Given the description of an element on the screen output the (x, y) to click on. 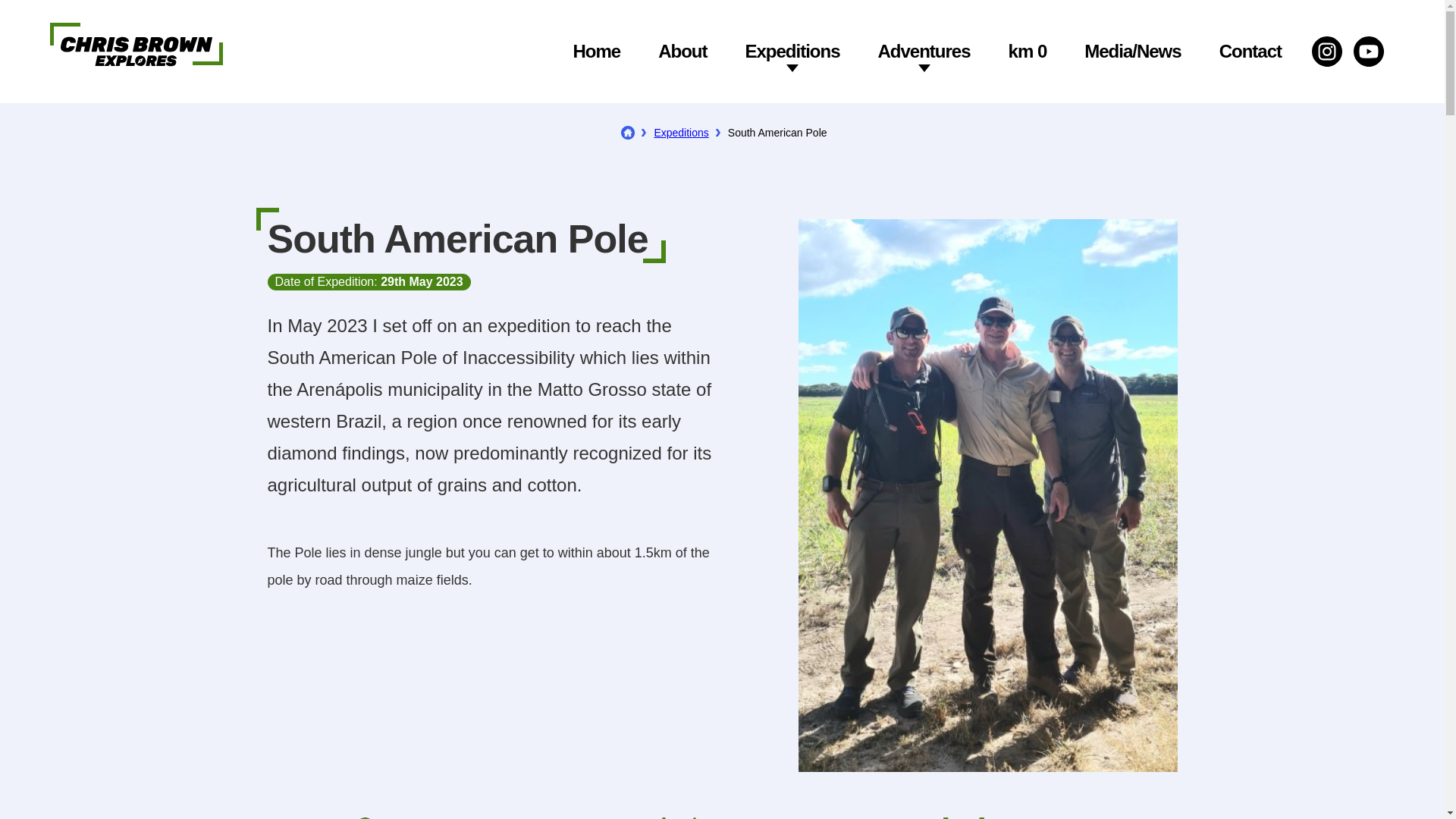
View Chris Brown's Instagram Profile (1326, 51)
About Chris Brown the Explorer (682, 50)
Chris Brown's Adventures (924, 50)
Chris Brown Explores (136, 37)
Expeditions (792, 50)
About Kilometre Zero locations (1027, 50)
Home (596, 50)
View Chris Brown's YouTube Page (1369, 51)
Contact (1250, 50)
Expeditions (680, 132)
km 0 (1027, 50)
Contact Chris Brown (1250, 50)
Chris Brown's Expeditions (792, 50)
About (682, 50)
Chris Brown in the News (1132, 50)
